Given the description of an element on the screen output the (x, y) to click on. 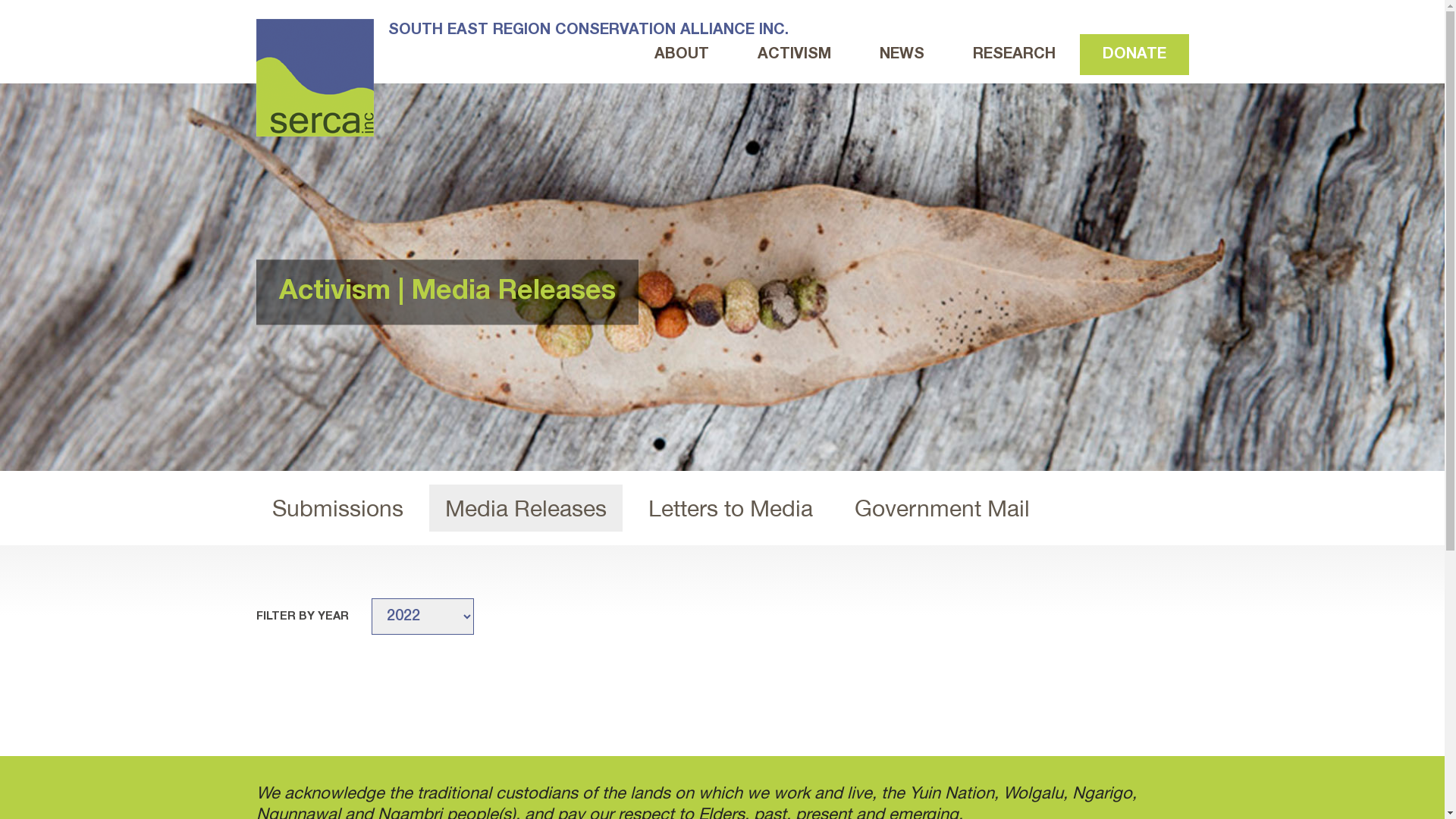
NEWS Element type: text (901, 54)
SOUTH EAST REGION CONSERVATION ALLIANCE INC. Element type: hover (314, 77)
RESEARCH Element type: text (1013, 54)
Government Mail Element type: text (941, 507)
Letters to Media Element type: text (730, 507)
SOUTH EAST REGION
CONSERVATION
ALLIANCE INC. Element type: text (522, 77)
ACTIVISM Element type: text (793, 54)
Media Releases Element type: text (525, 507)
ABOUT Element type: text (680, 54)
Submissions Element type: text (337, 507)
DONATE Element type: text (1134, 54)
leaf Element type: hover (722, 276)
